Given the description of an element on the screen output the (x, y) to click on. 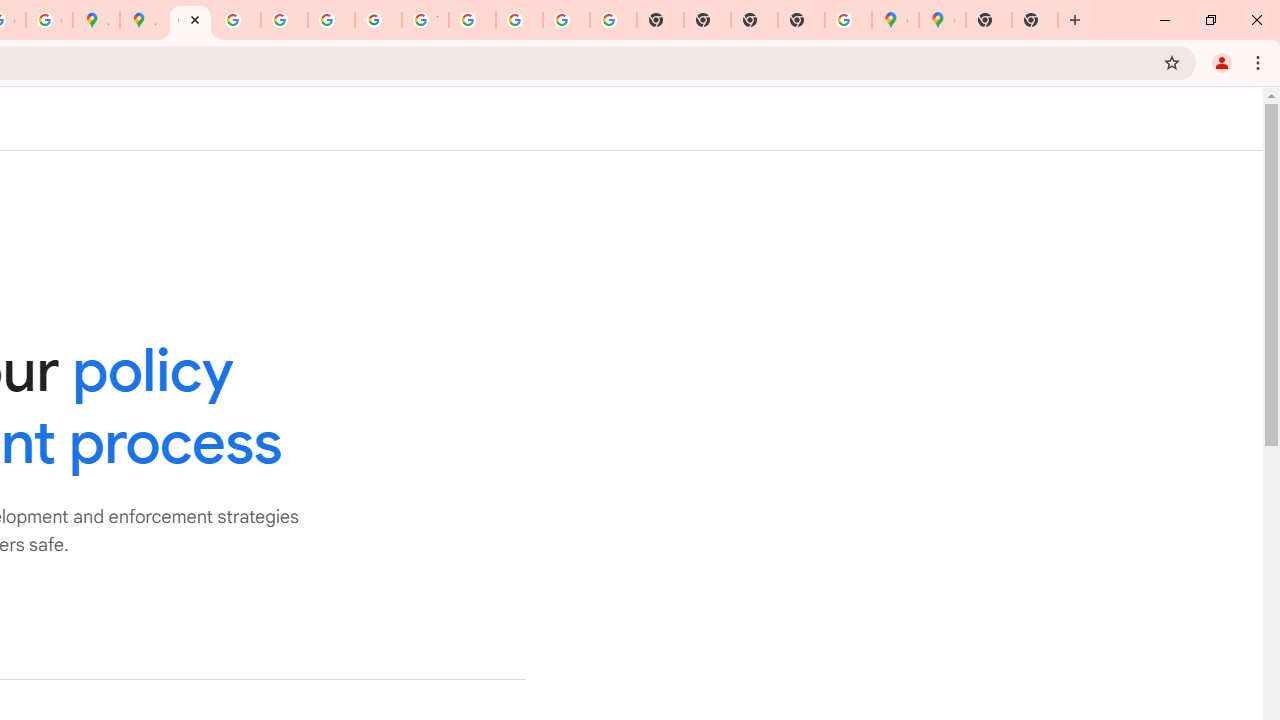
New Tab (801, 20)
Google Maps (942, 20)
Google Maps (895, 20)
New Tab (989, 20)
YouTube (425, 20)
